Given the description of an element on the screen output the (x, y) to click on. 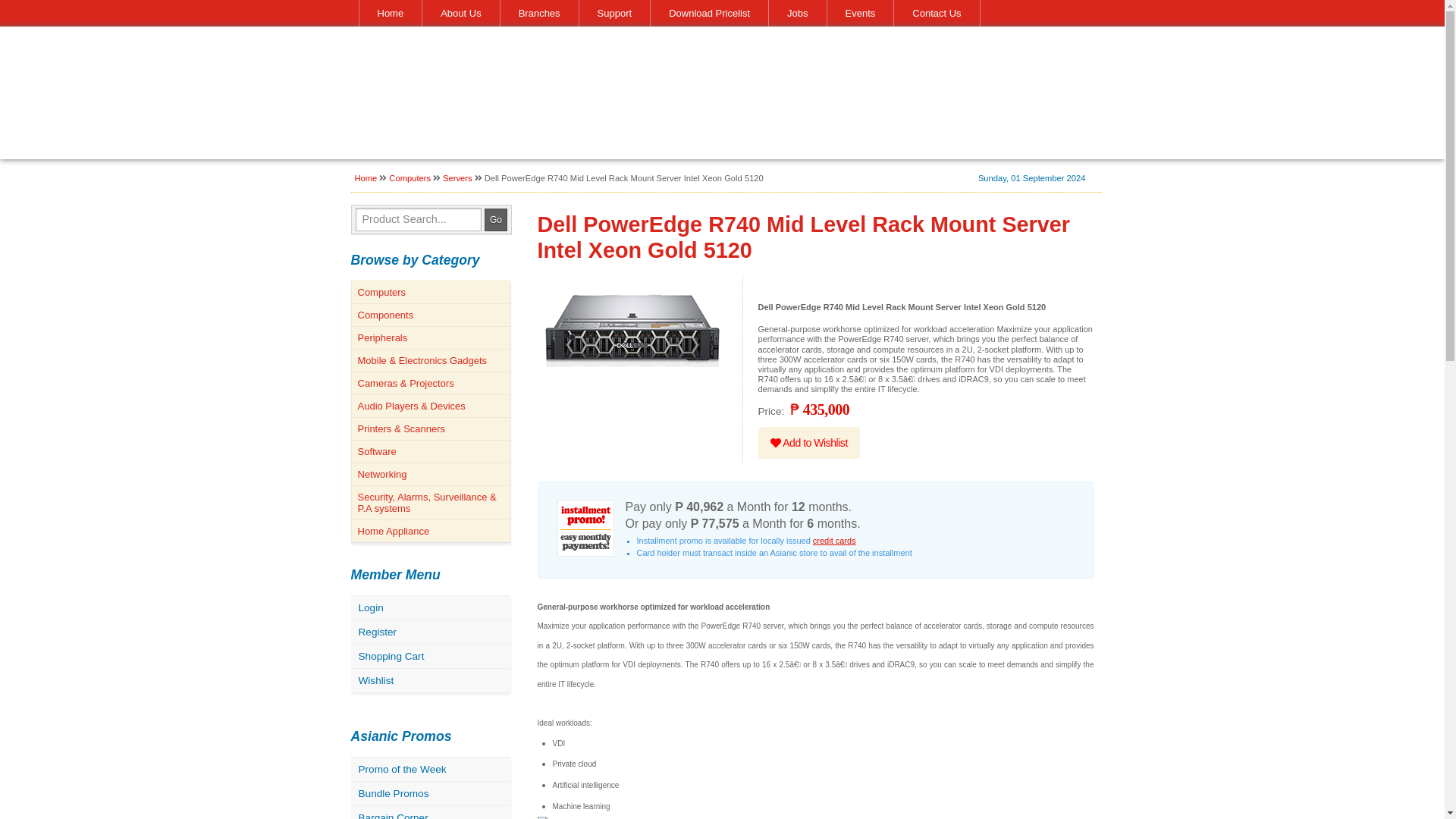
Jobs (796, 13)
Events (860, 13)
Home (390, 13)
Computers (409, 177)
Go (495, 219)
About Us (460, 13)
Home (366, 177)
Asianic Partner Banks (834, 540)
Computers (429, 291)
Components (429, 314)
